Given the description of an element on the screen output the (x, y) to click on. 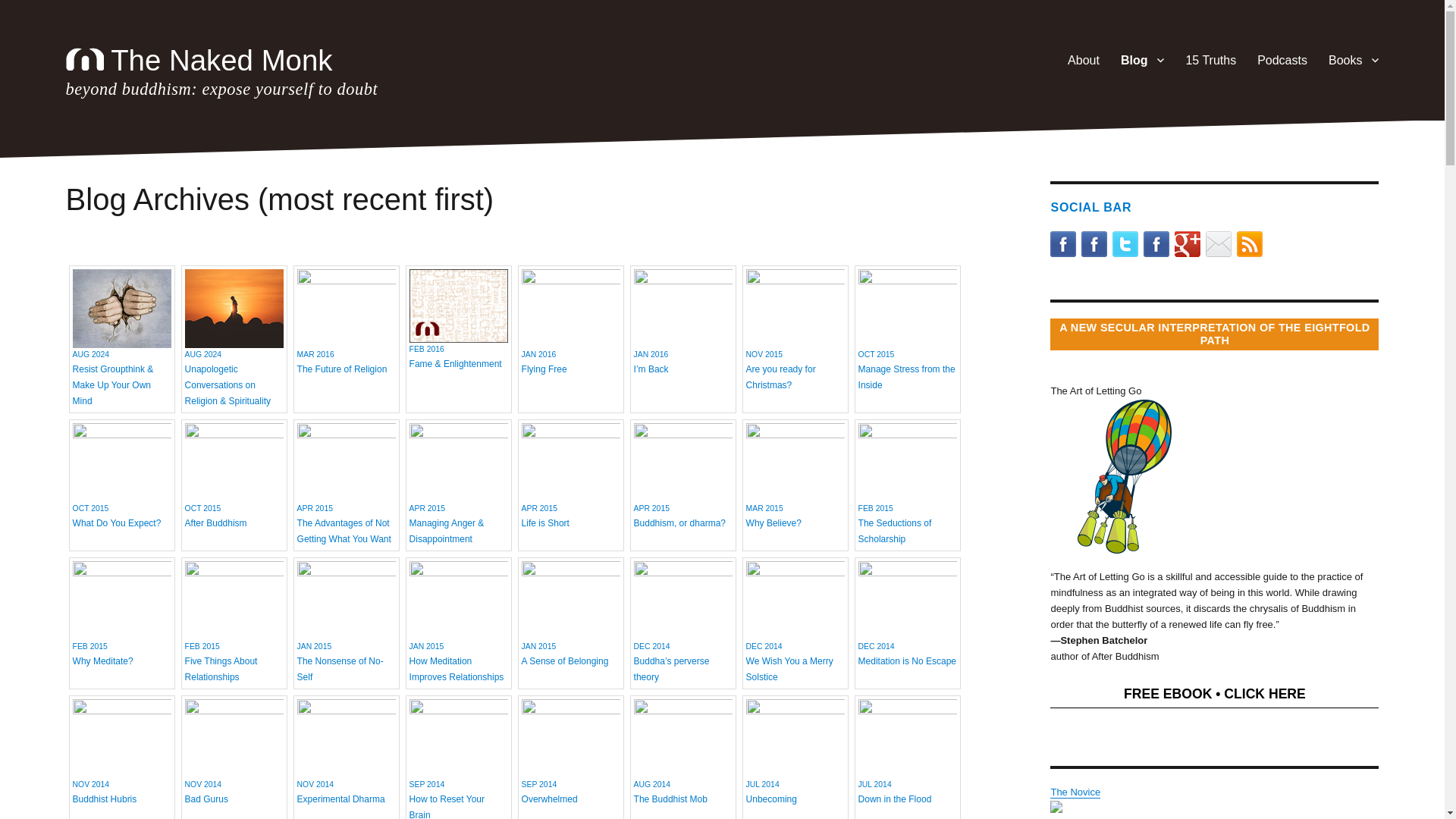
The Naked Monk (570, 322)
Blog (220, 60)
Podcasts (1141, 60)
About (1281, 60)
Books (346, 322)
15 Truths (1083, 60)
